Given the description of an element on the screen output the (x, y) to click on. 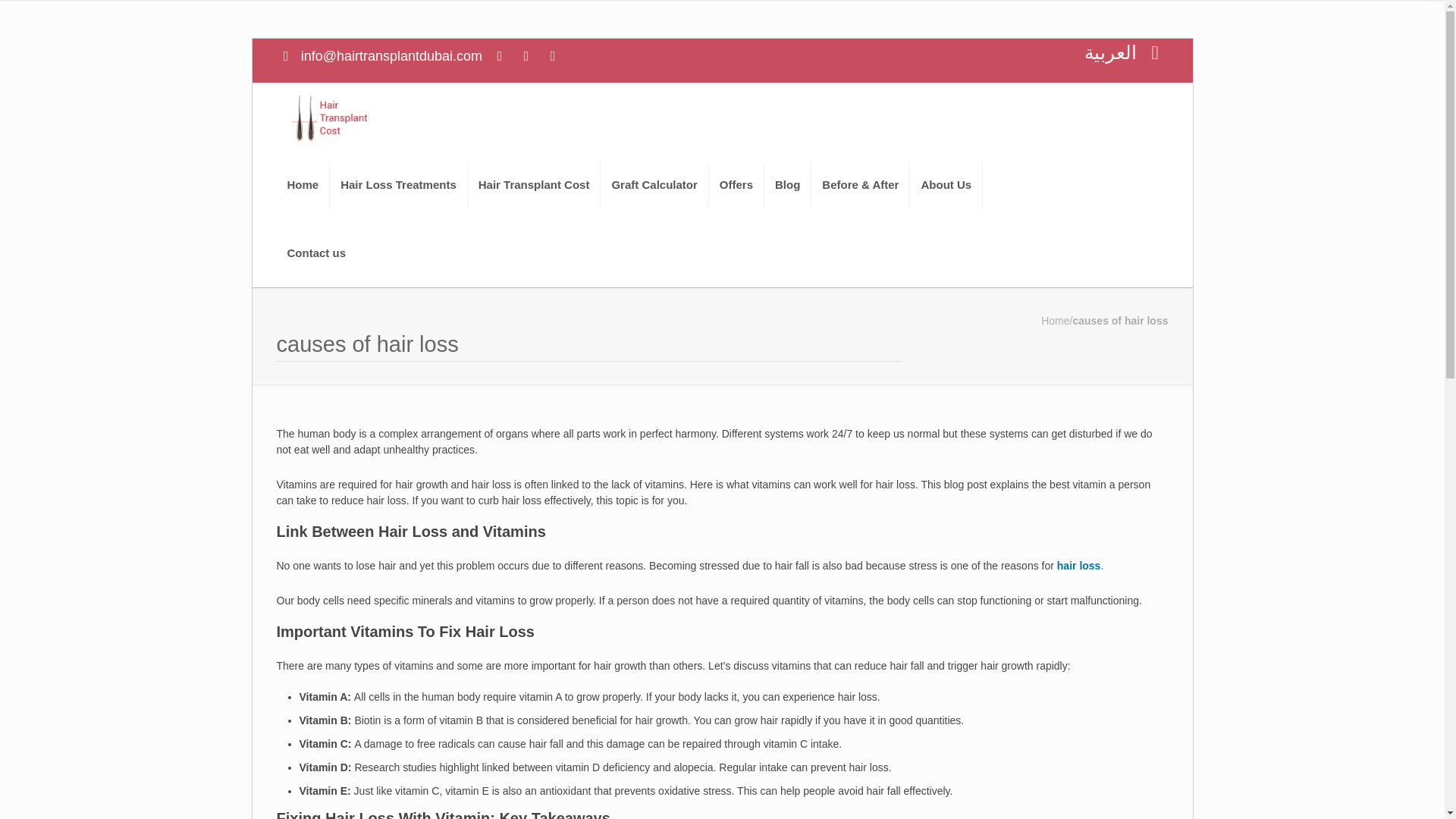
Hair Loss Treatments (398, 184)
Contact us (316, 253)
Graft Calculator (653, 184)
Hair Transplant Cost (534, 184)
Hair Transplant In Dubai cost (329, 116)
Twitter (525, 56)
Facebook (498, 56)
YouTube (552, 56)
